Given the description of an element on the screen output the (x, y) to click on. 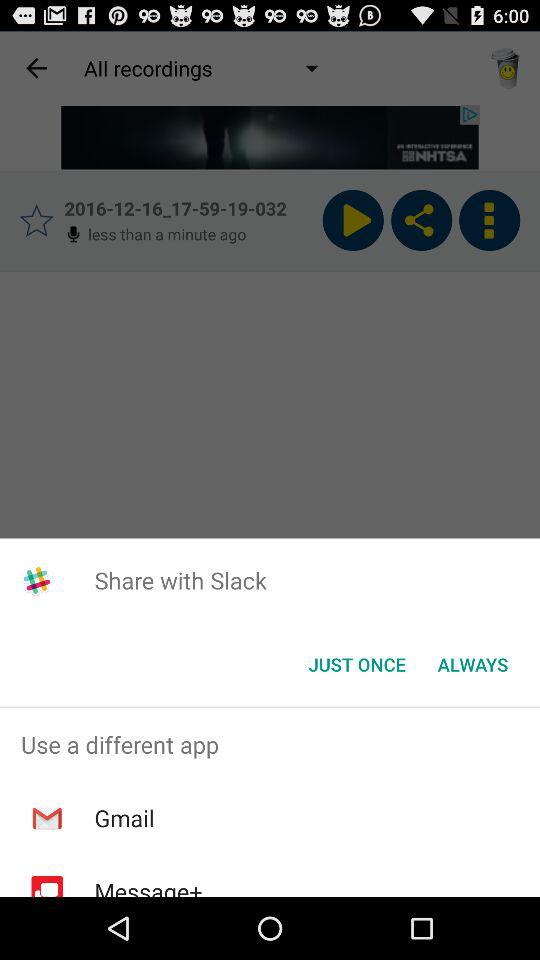
tap the button at the bottom right corner (472, 664)
